Given the description of an element on the screen output the (x, y) to click on. 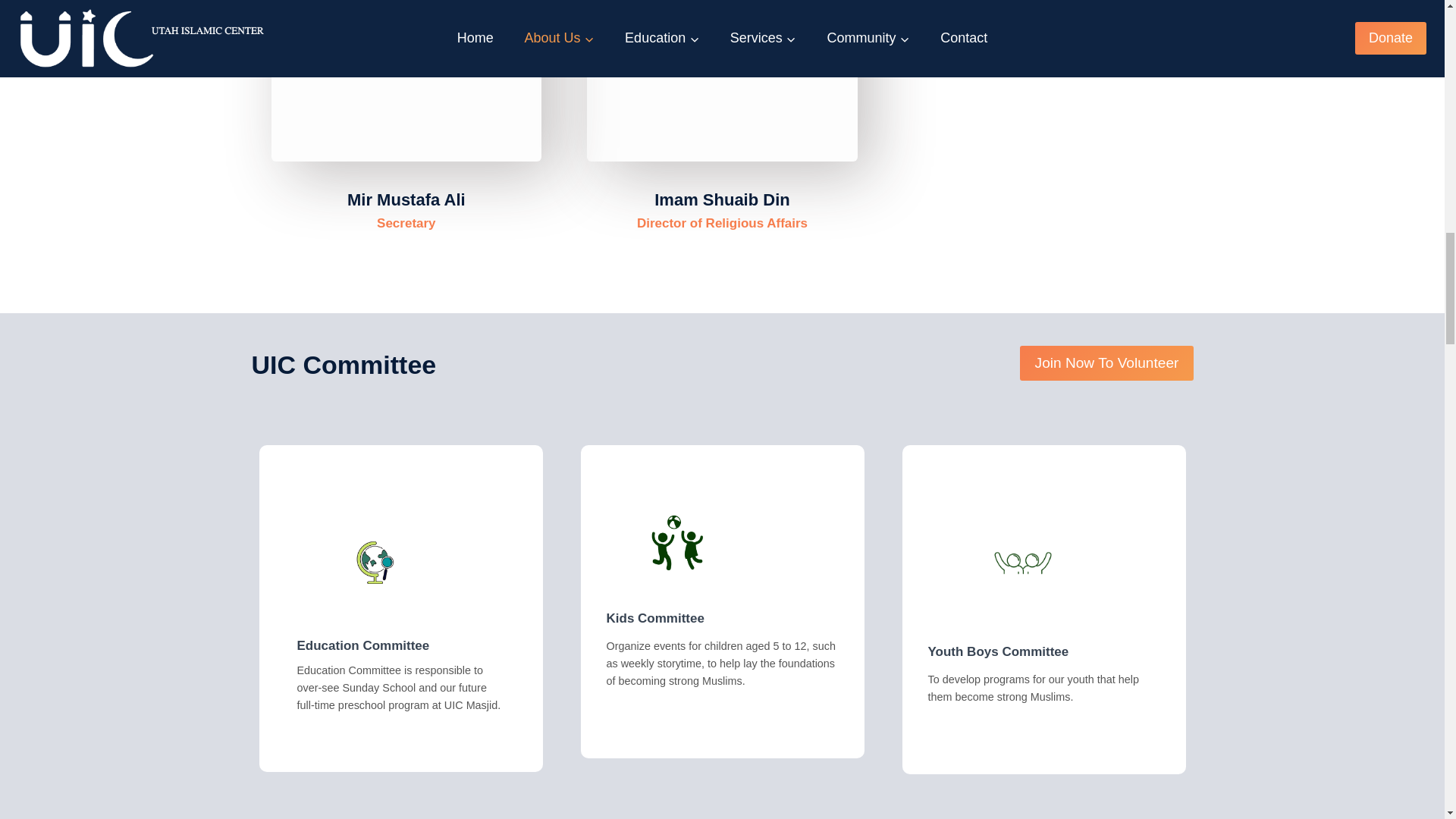
Join Now To Volunteer (1106, 362)
